Given the description of an element on the screen output the (x, y) to click on. 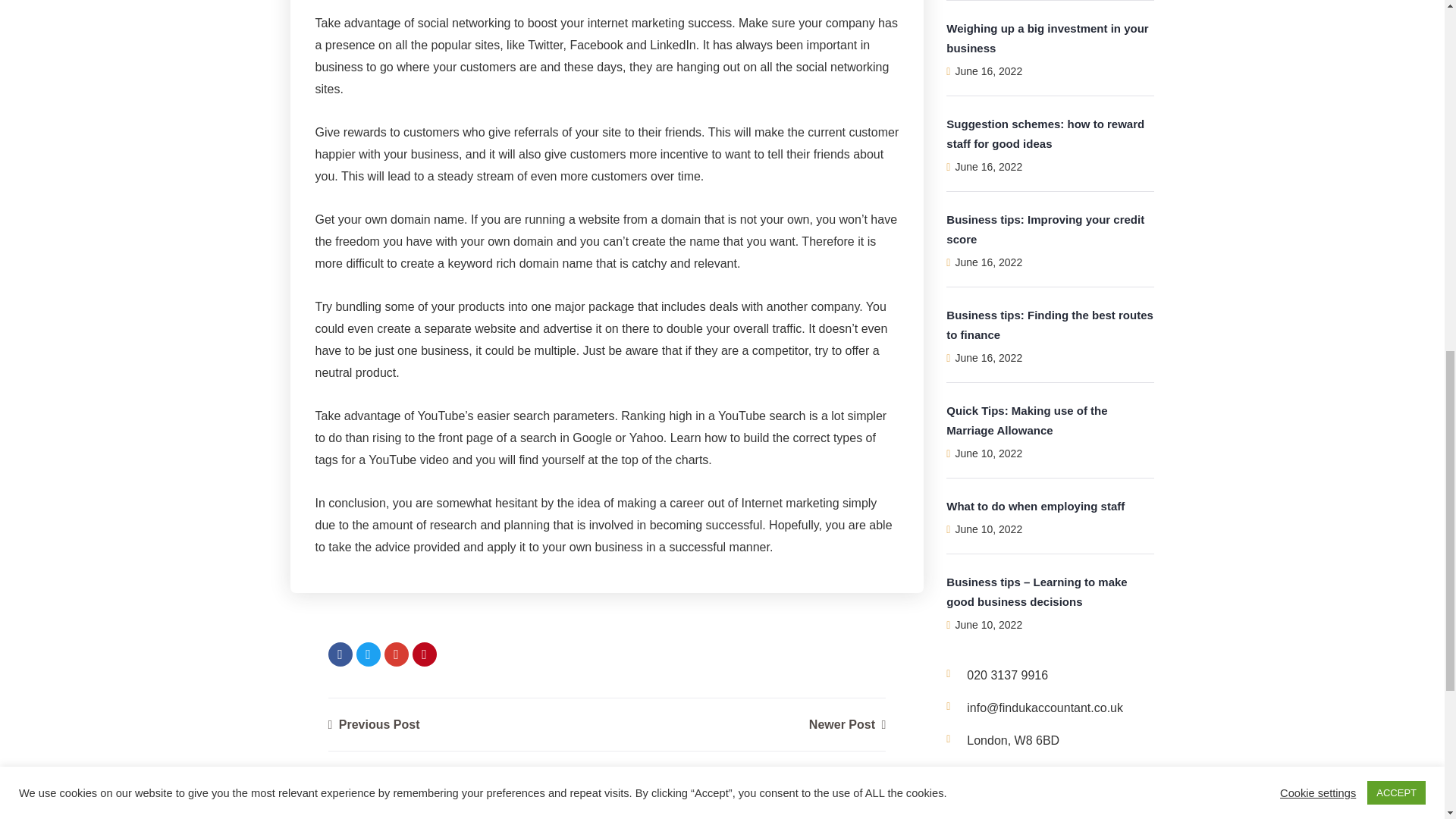
Pinterest (424, 654)
Previous Post (373, 724)
What to do when employing staff (1035, 227)
Newer Post (847, 724)
Google Plus (395, 654)
Twitter (368, 654)
Facebook (339, 654)
Business tips: Finding the best routes to finance (1049, 46)
Quick Tips: Making use of the Marriage Allowance (1026, 142)
